Given the description of an element on the screen output the (x, y) to click on. 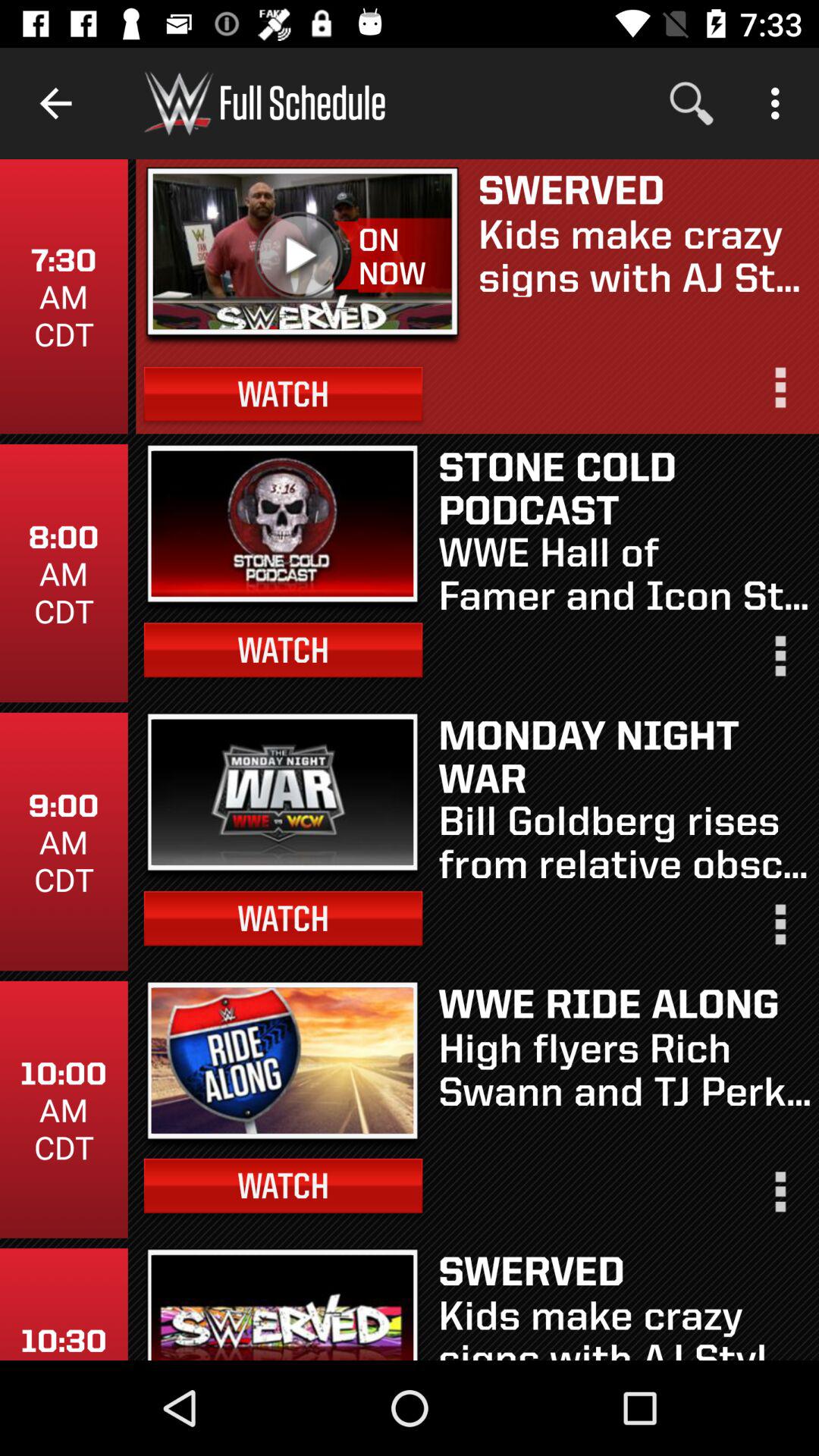
turn on icon below the full schedule item (302, 256)
